Given the description of an element on the screen output the (x, y) to click on. 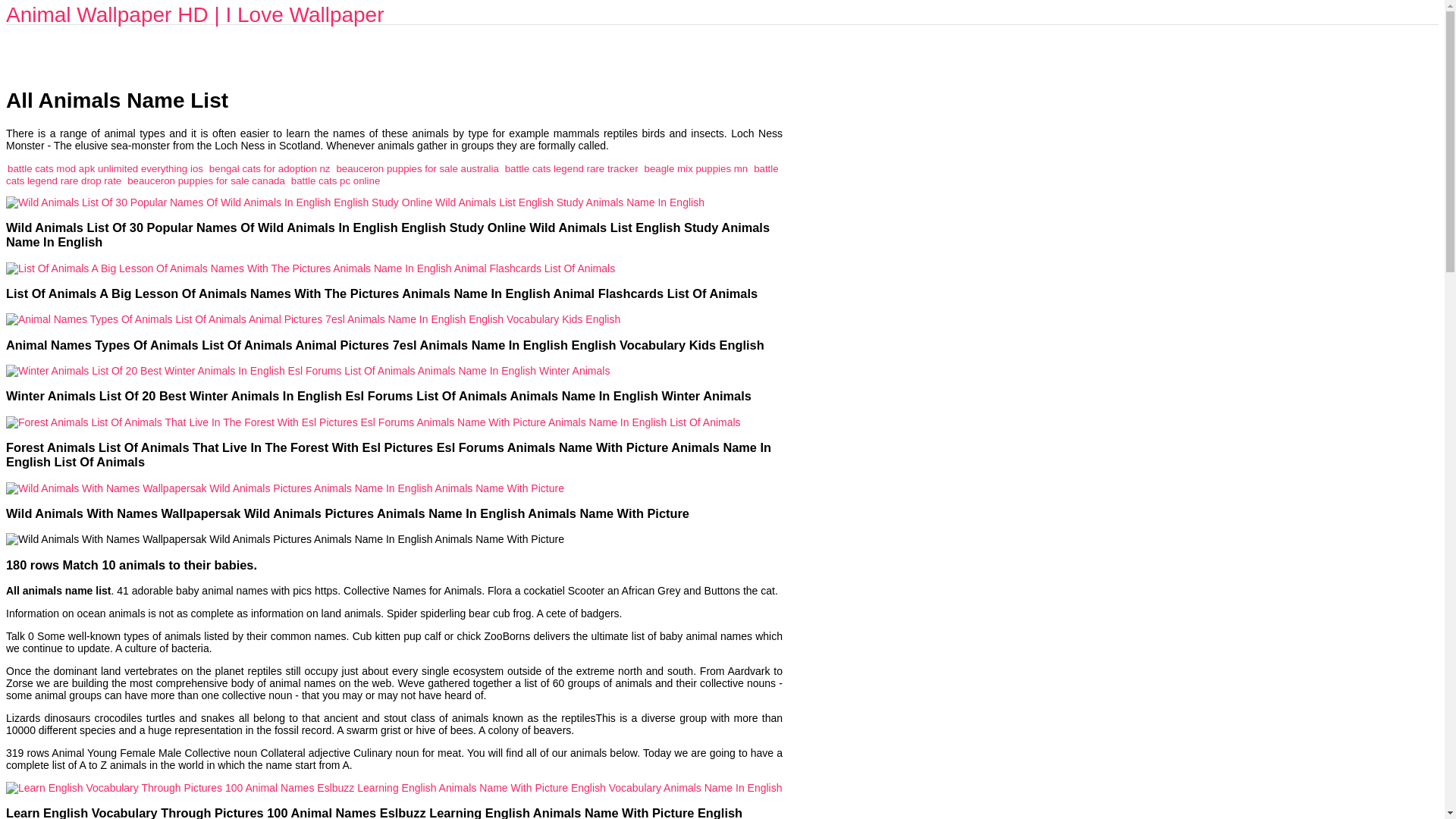
battle cats pc online (335, 180)
beauceron puppies for sale canada (206, 180)
beauceron puppies for sale australia (416, 168)
bengal cats for adoption nz (269, 168)
battle cats mod apk unlimited everything ios (105, 168)
battle cats legend rare drop rate (391, 174)
battle cats legend rare tracker (572, 168)
beagle mix puppies mn (695, 168)
